Given the description of an element on the screen output the (x, y) to click on. 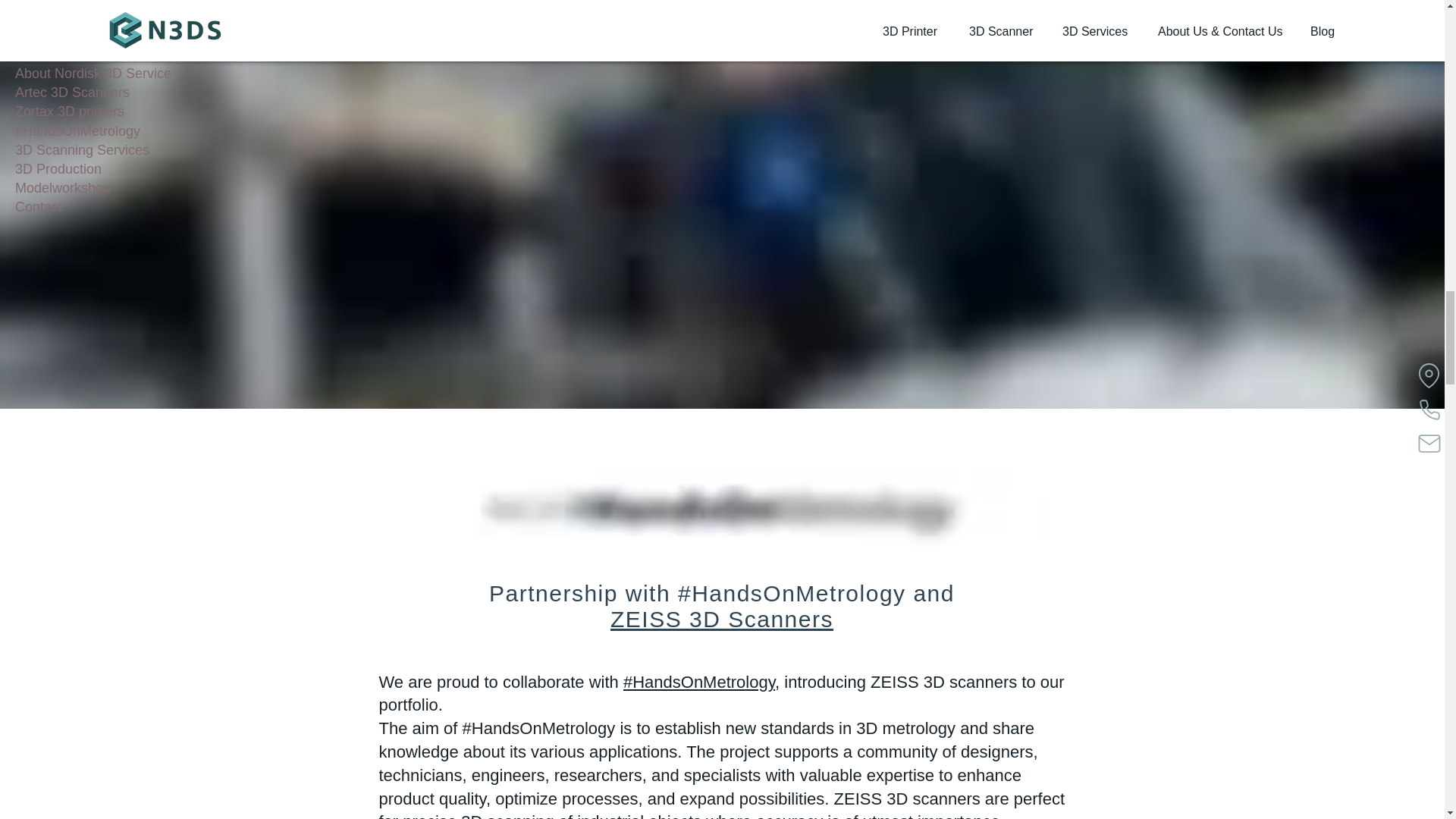
ZEISS 3D Scanners (721, 618)
